Given the description of an element on the screen output the (x, y) to click on. 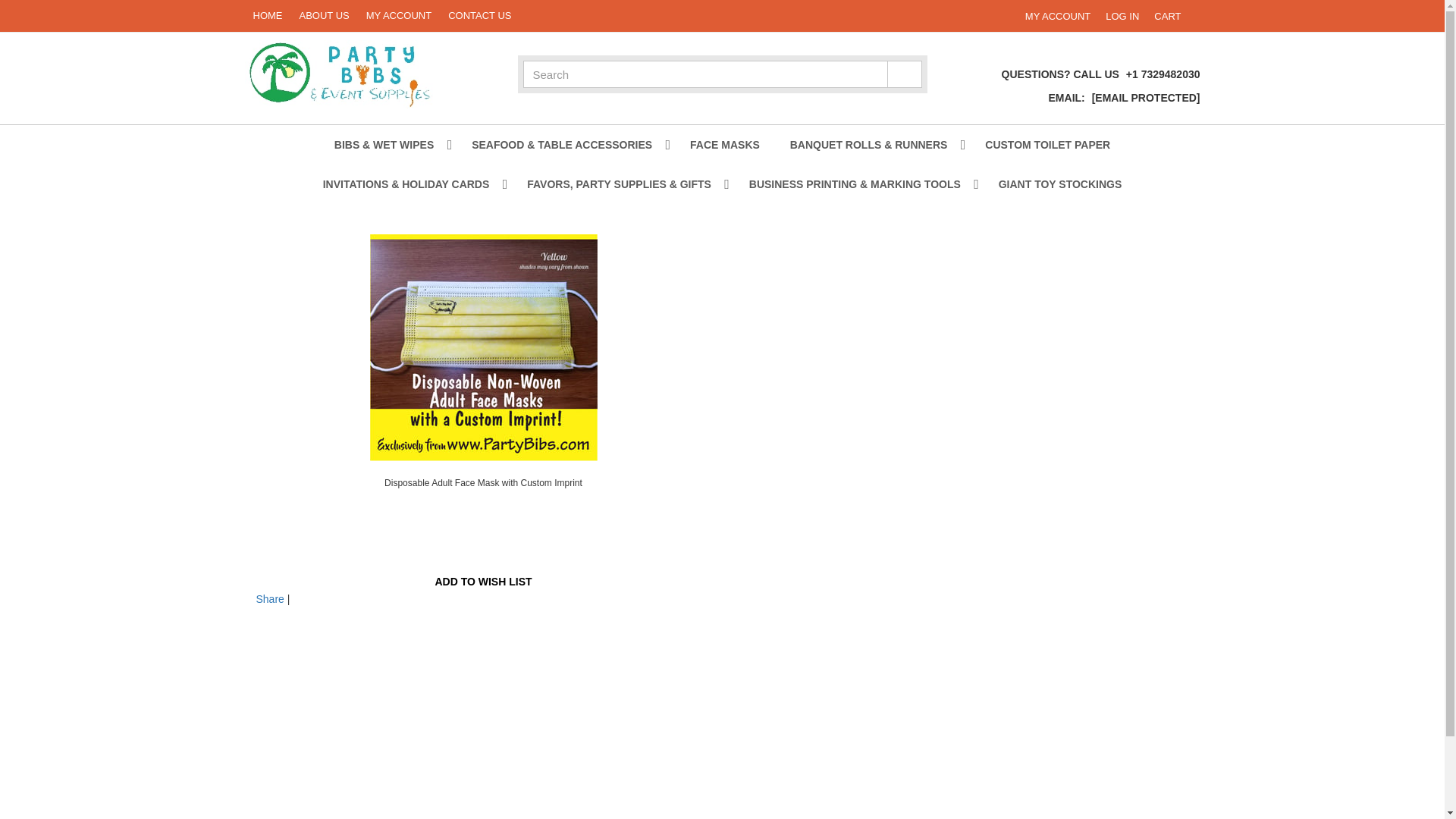
FACE MASKS (725, 144)
Disposable Adult Face Mask with Custom Imprint  (483, 482)
HOME (266, 15)
CONTACT US (1167, 15)
Disposable Adult Face Mask with Custom Imprint  (479, 15)
MY ACCOUNT (483, 347)
ABOUT US (398, 15)
